Given the description of an element on the screen output the (x, y) to click on. 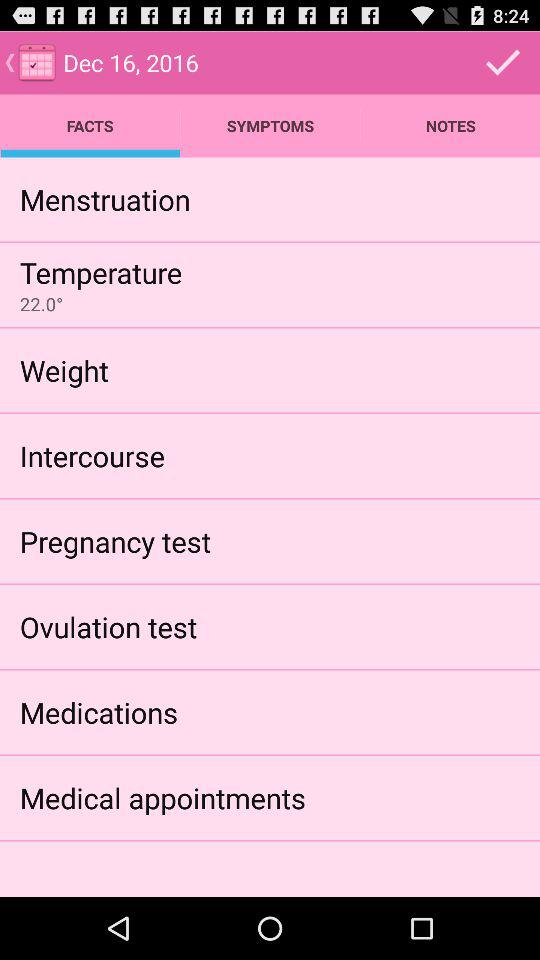
okay and/or save option s (503, 62)
